Given the description of an element on the screen output the (x, y) to click on. 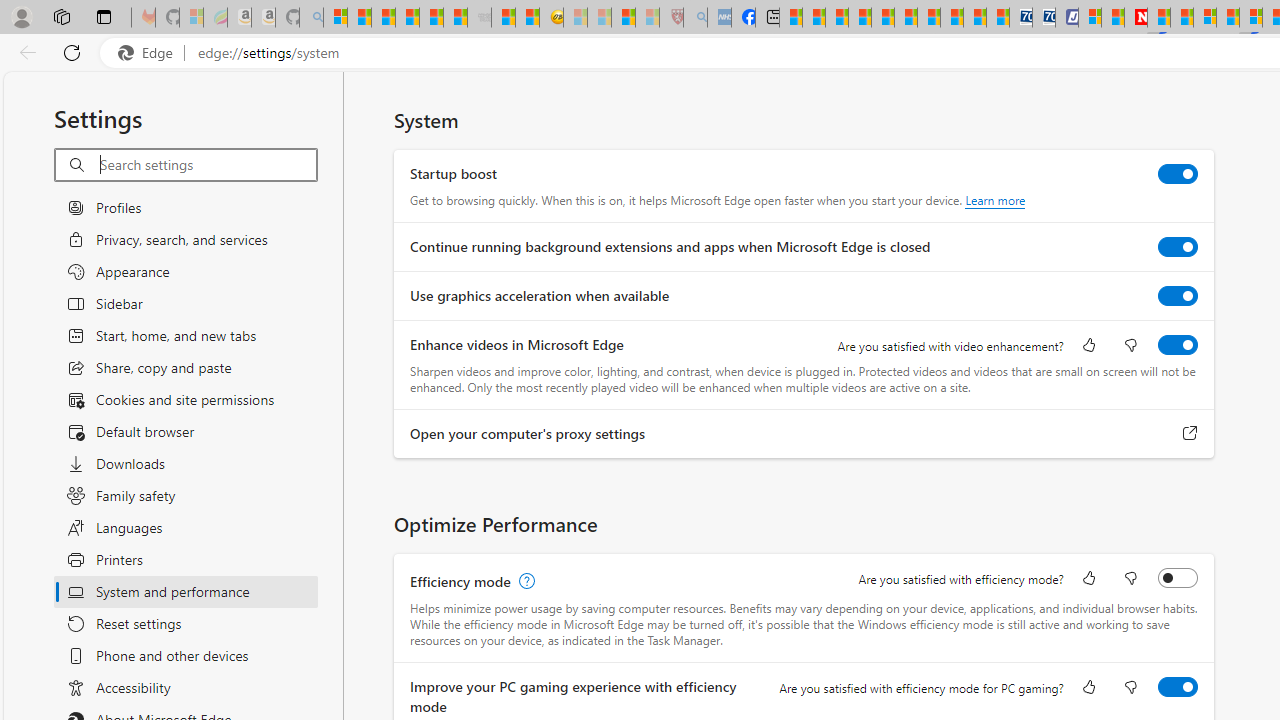
Search settings (207, 165)
Improve your PC gaming experience with efficiency mode (1178, 686)
Startup boost (1178, 174)
Learn more (995, 200)
Use graphics acceleration when available (1178, 295)
Open your computer's proxy settings (1190, 434)
14 Common Myths Debunked By Scientific Facts (1181, 17)
